Given the description of an element on the screen output the (x, y) to click on. 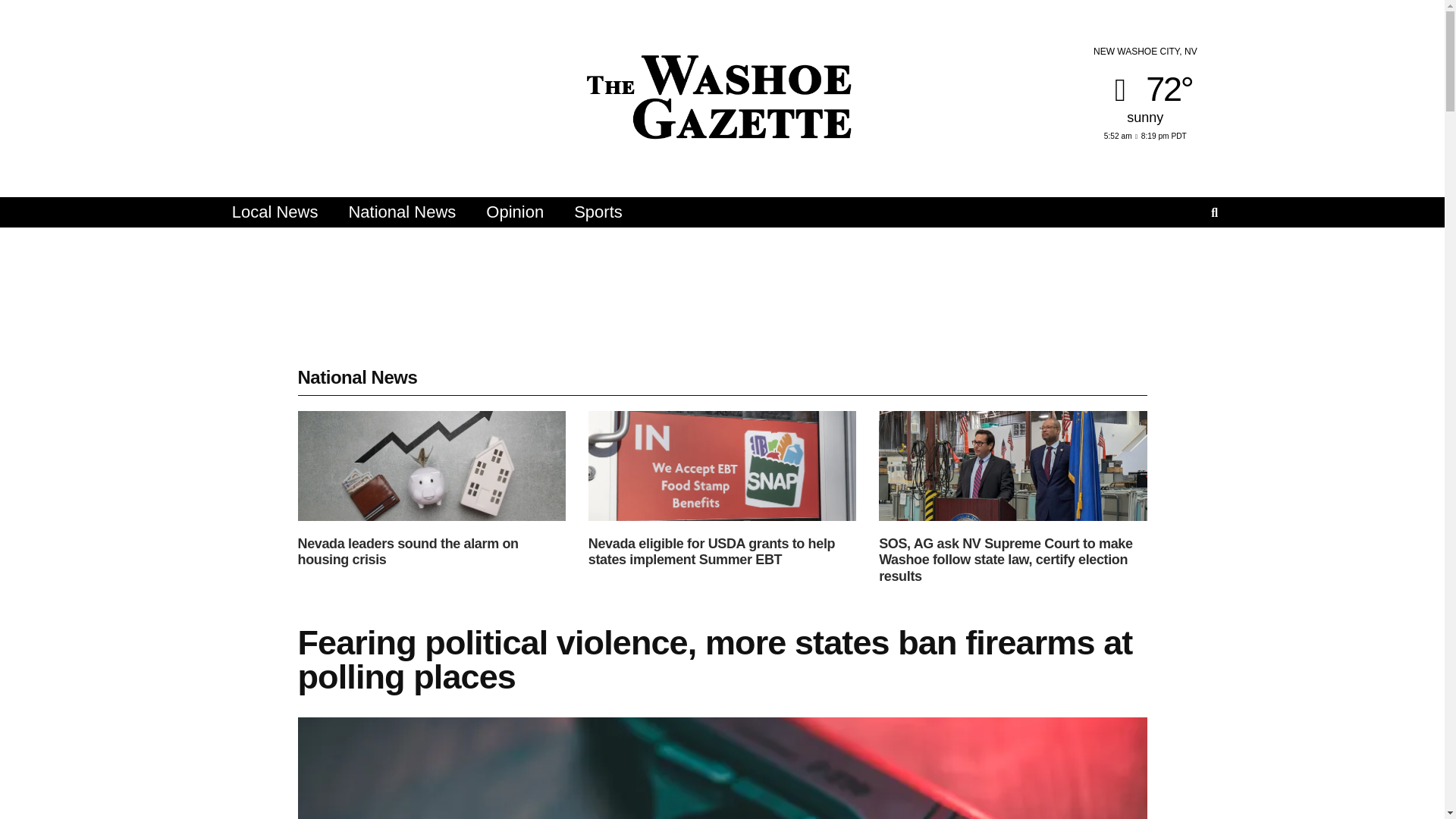
Local News (274, 212)
National News (401, 212)
Opinion (514, 212)
Nevada leaders sound the alarm on housing crisis (407, 552)
Sports (598, 212)
